Given the description of an element on the screen output the (x, y) to click on. 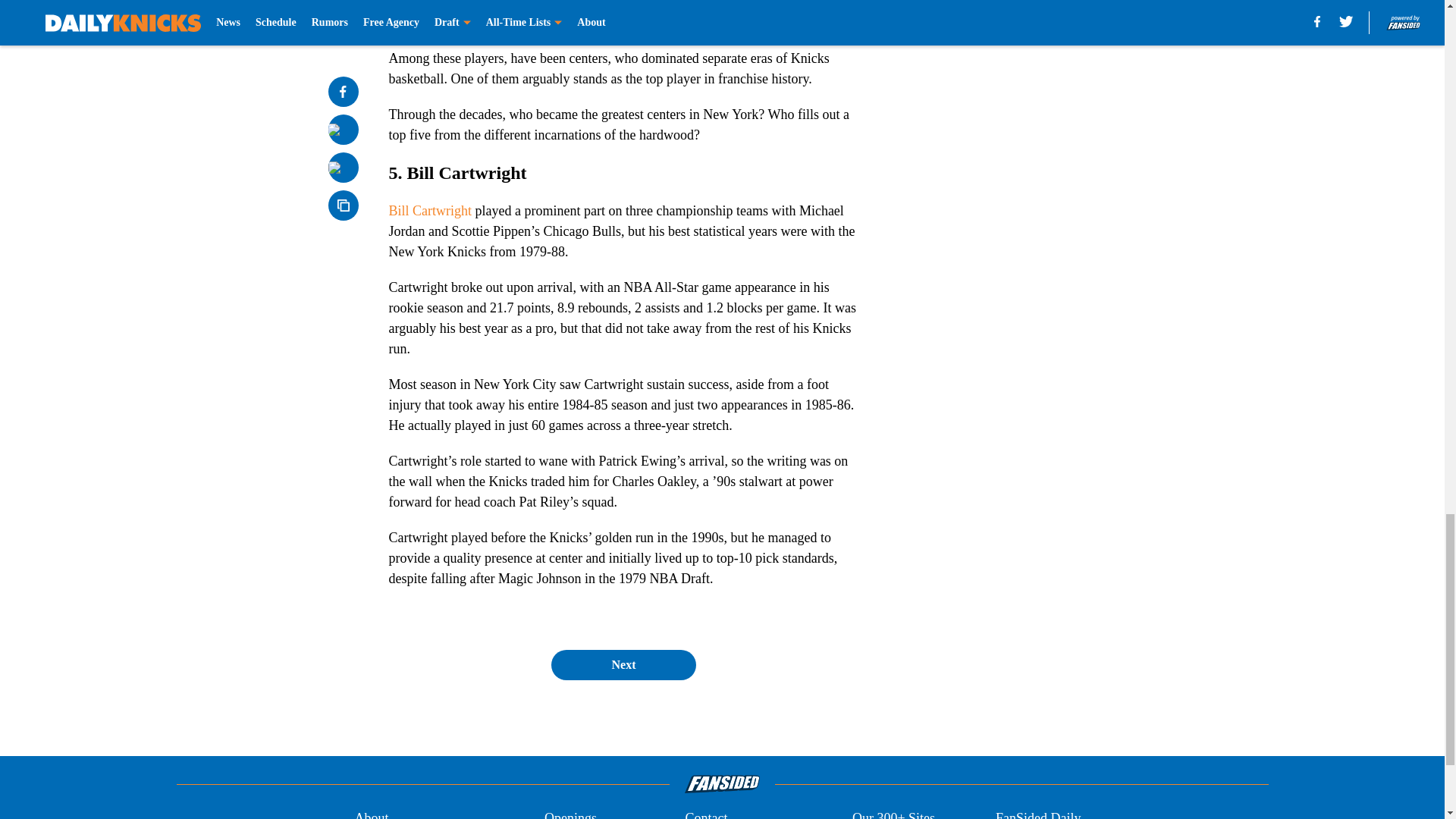
FanSided Daily (1038, 813)
About (370, 813)
Openings (570, 813)
Bill Cartwright (429, 210)
Contact (705, 813)
Next (622, 665)
